Given the description of an element on the screen output the (x, y) to click on. 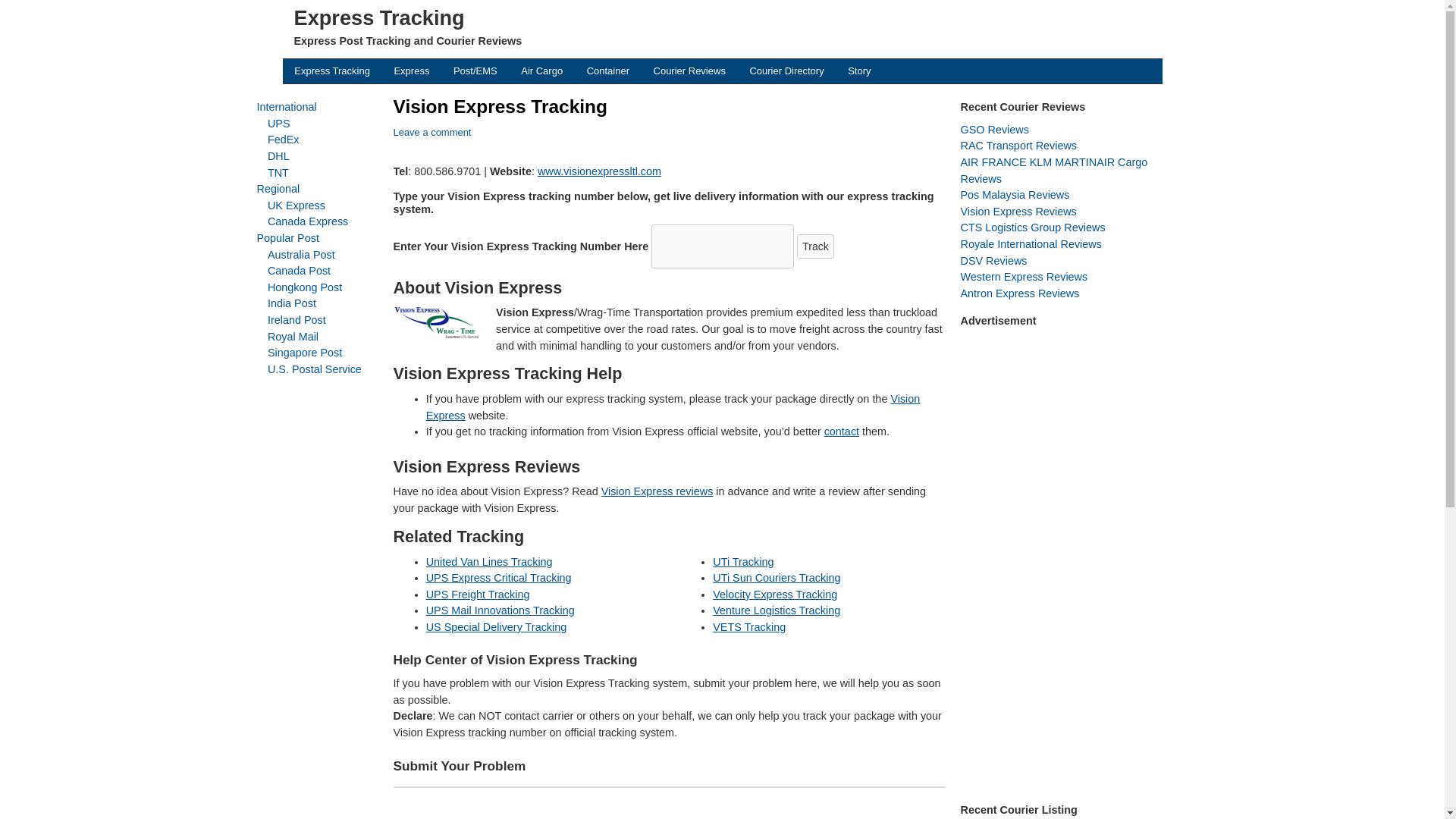
TNT (277, 173)
Express Tracking (331, 71)
Popular Post (287, 237)
UPS Freight Tracking (477, 594)
Leave a comment (431, 132)
UTi Sun Couriers Tracking (776, 577)
UPS Express Critical Tracking (499, 577)
ups tracking (278, 123)
Container (608, 71)
Vision Express reviews (657, 491)
